Given the description of an element on the screen output the (x, y) to click on. 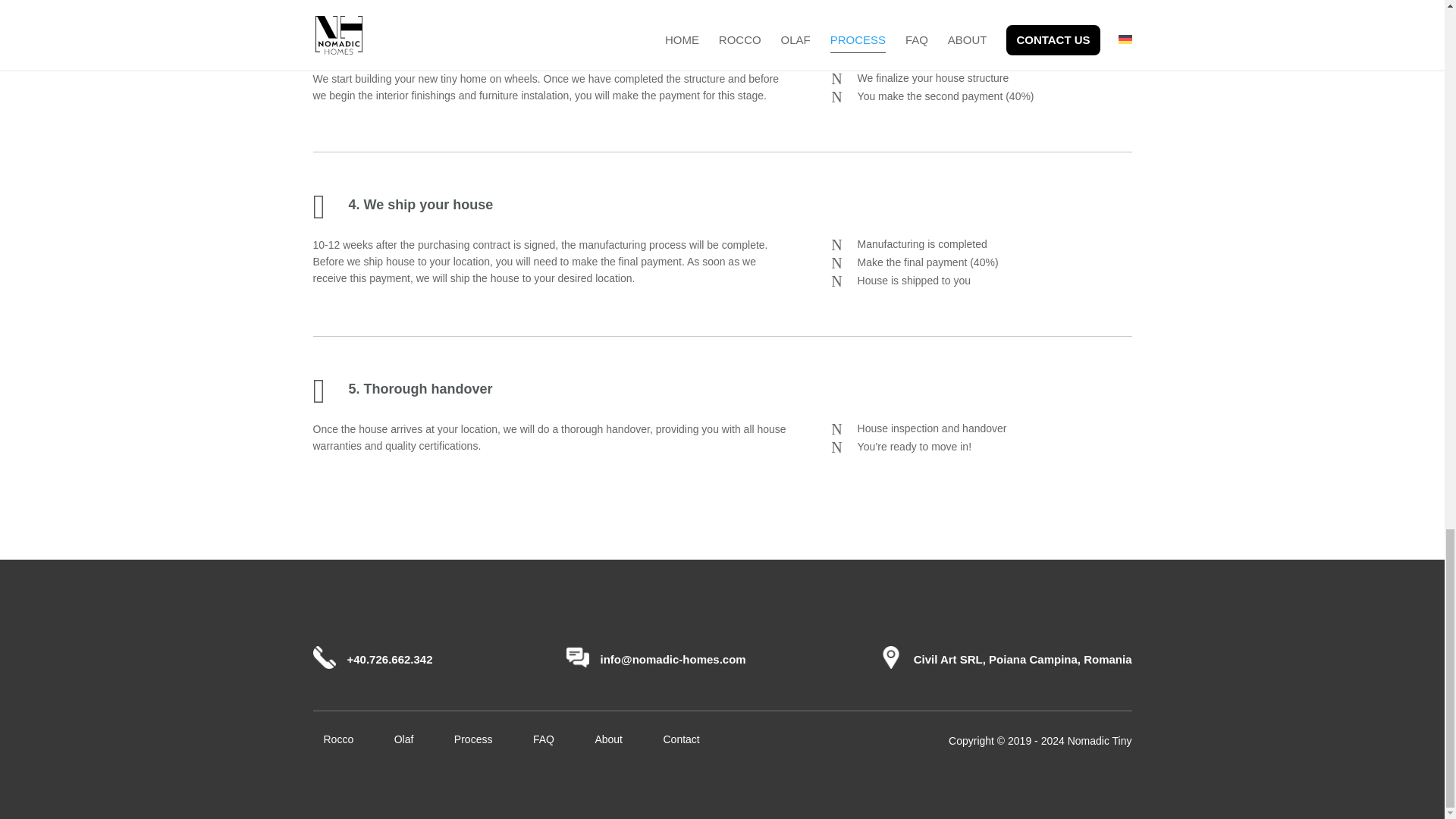
Olaf (403, 738)
Rocco (338, 738)
FAQ (543, 738)
Olaf (403, 738)
Contact (680, 738)
FAQ (543, 738)
Contact (680, 738)
Rocco (338, 738)
About (608, 738)
Process (473, 738)
About (608, 738)
Process (473, 738)
